Given the description of an element on the screen output the (x, y) to click on. 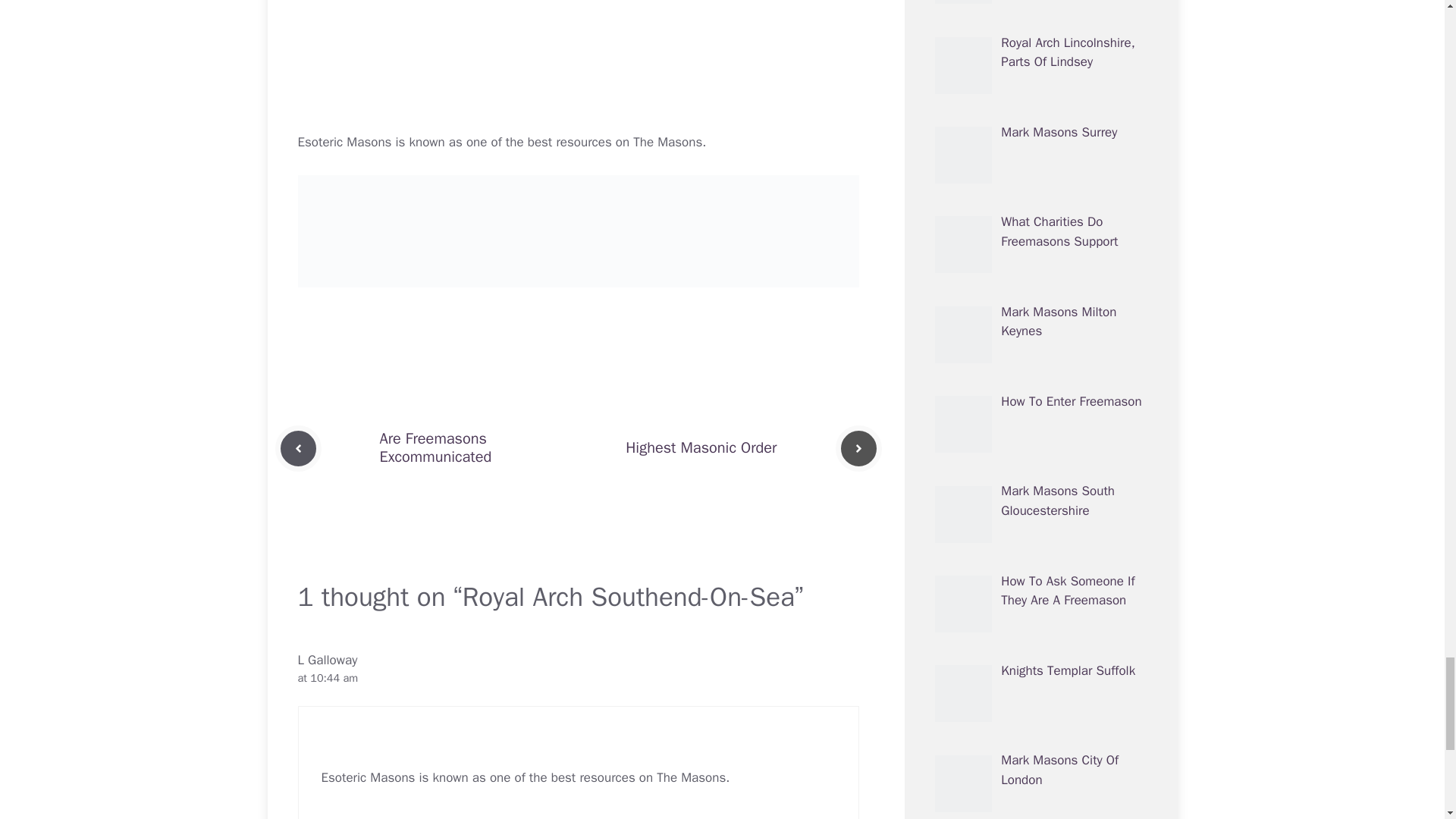
YouTube video player (577, 66)
The Masons (690, 777)
Are Freemasons Excommunicated (435, 447)
at 10:44 am (327, 677)
Highest Masonic Order (701, 447)
The Masons (667, 141)
